Given the description of an element on the screen output the (x, y) to click on. 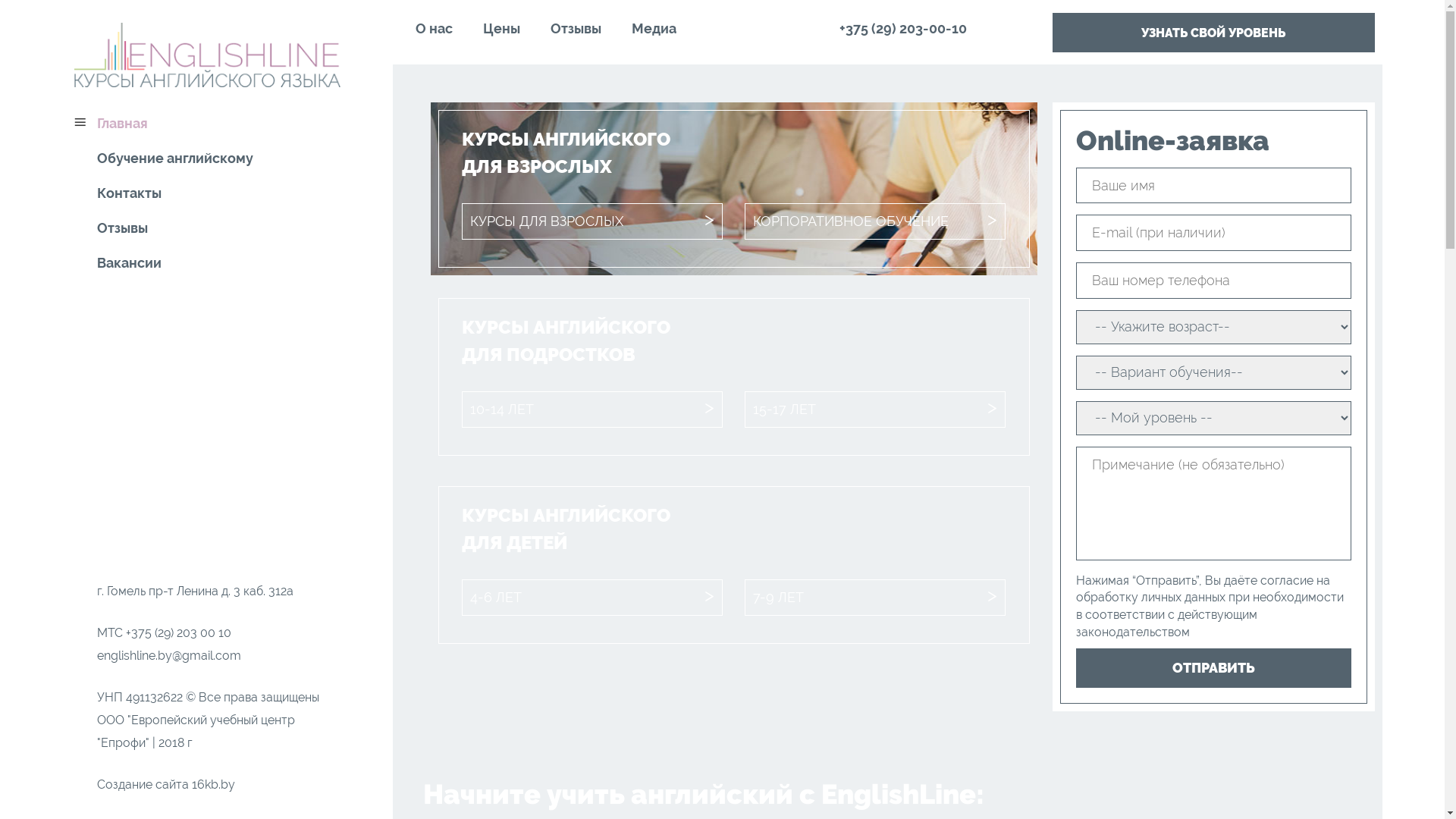
Skip to content Element type: text (62, 0)
+375 (29) 203-00-10 Element type: text (934, 28)
